Given the description of an element on the screen output the (x, y) to click on. 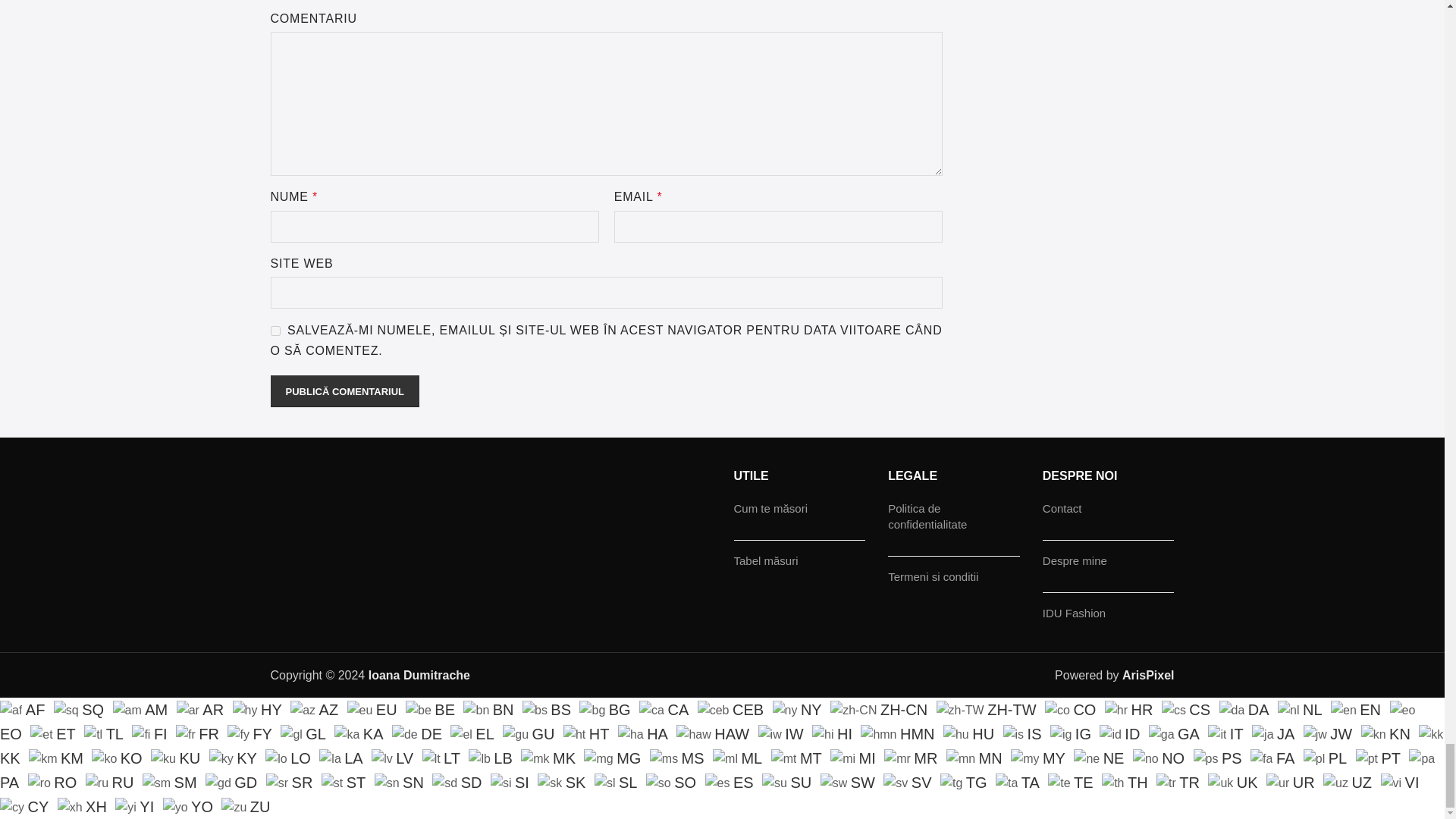
Arabic (202, 708)
Amharic (143, 708)
Albanian (81, 708)
Afrikaans (24, 708)
yes (274, 330)
